Given the description of an element on the screen output the (x, y) to click on. 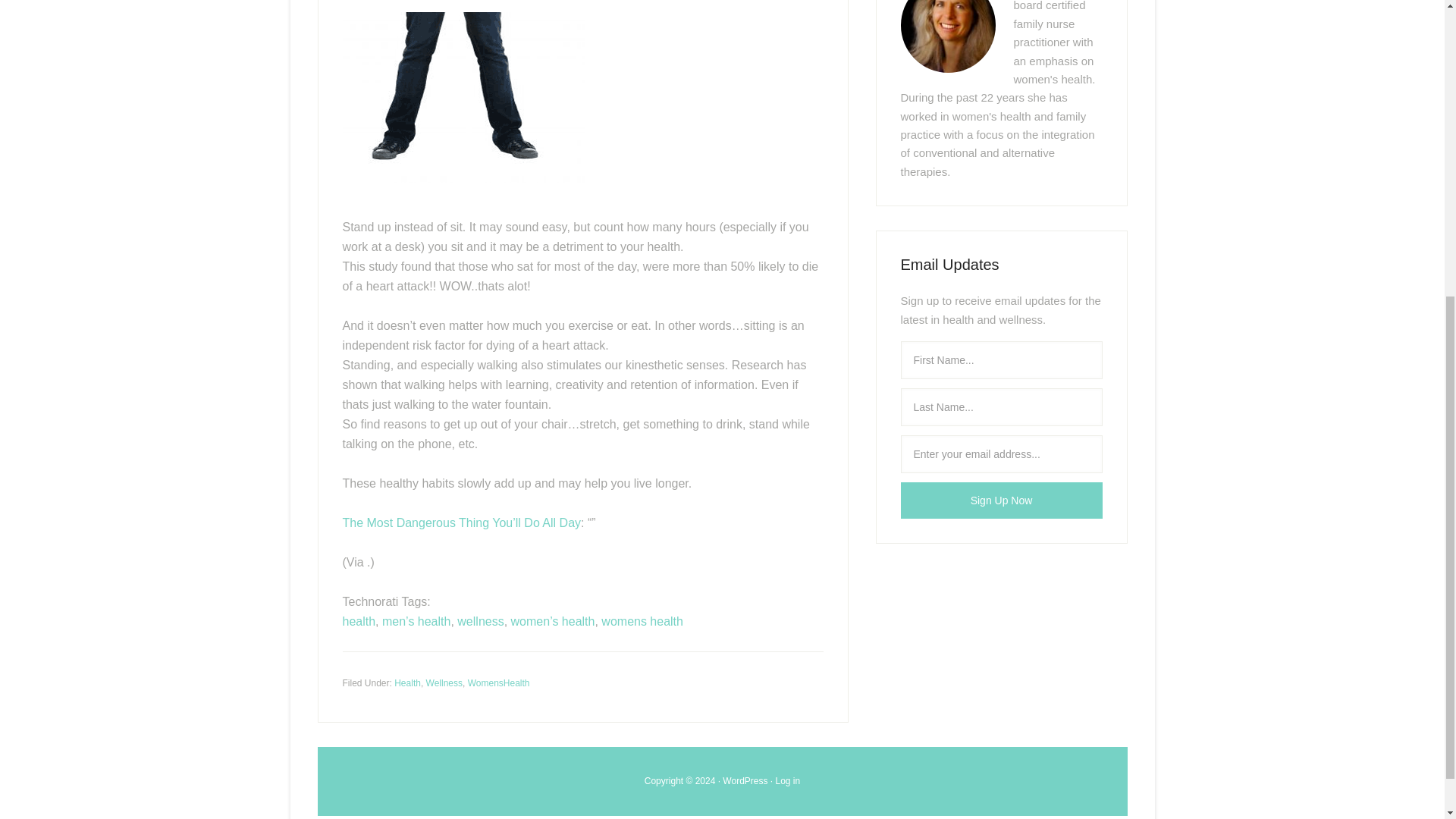
WomensHealth (498, 683)
WordPress (744, 779)
Log in (788, 779)
Health (407, 683)
wellness (480, 621)
health (358, 621)
Sign Up Now (1001, 500)
Sign Up Now (1001, 500)
womens health (641, 621)
Wellness (444, 683)
